Given the description of an element on the screen output the (x, y) to click on. 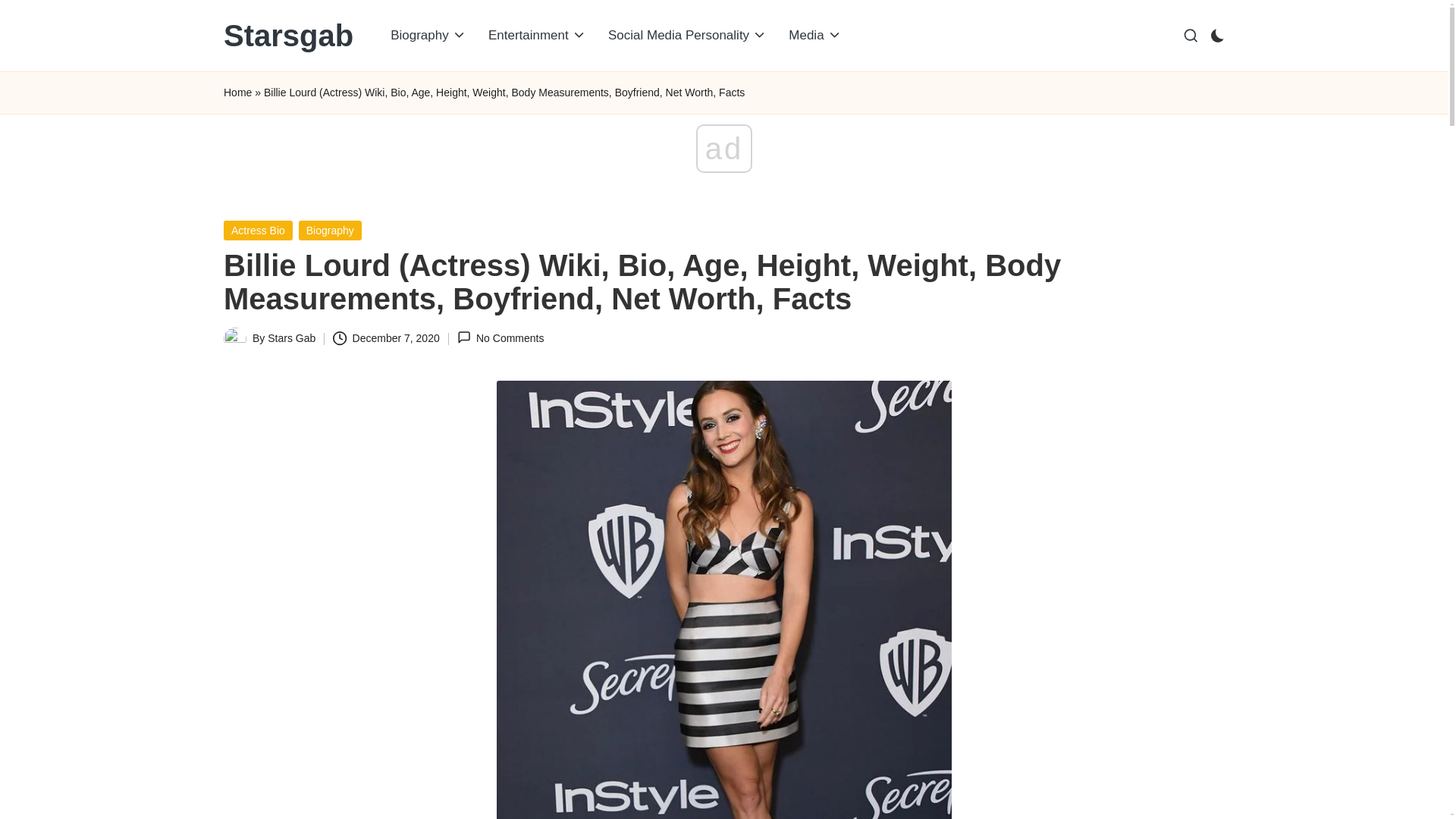
View all posts by Stars Gab (291, 337)
Social Media Personality (686, 35)
Entertainment (536, 35)
Biography (428, 35)
Starsgab (288, 35)
